Given the description of an element on the screen output the (x, y) to click on. 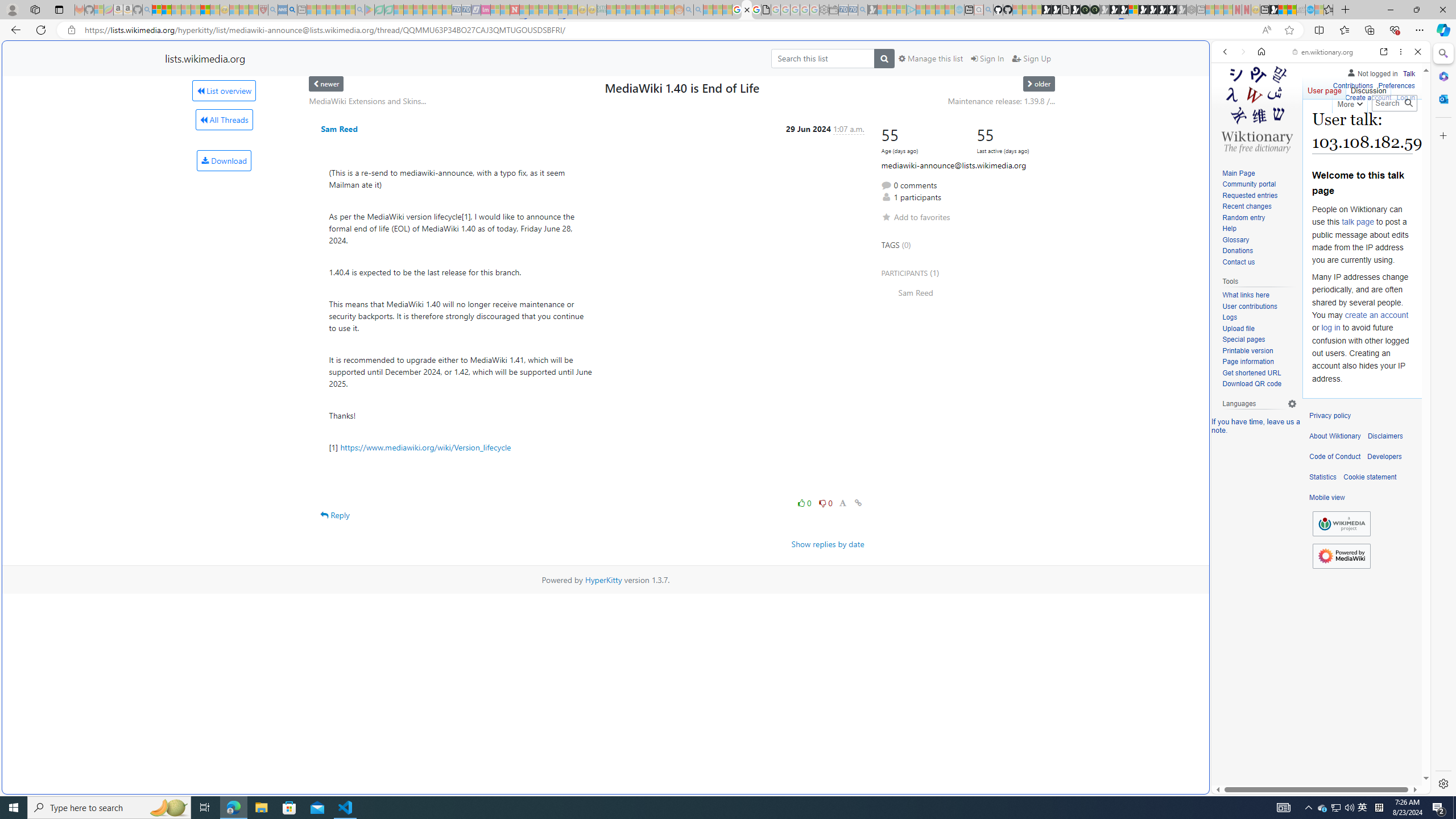
Not logged in (1371, 71)
utah sues federal government - Search (291, 9)
Contributions (1352, 85)
google_privacy_policy_zh-CN.pdf (766, 9)
Wallet - Sleeping (833, 9)
Go (1408, 102)
Maintenance release: 1.39.8 /... (1001, 100)
Main Page (1259, 173)
Utah sues federal government - Search - Sleeping (697, 9)
